Given the description of an element on the screen output the (x, y) to click on. 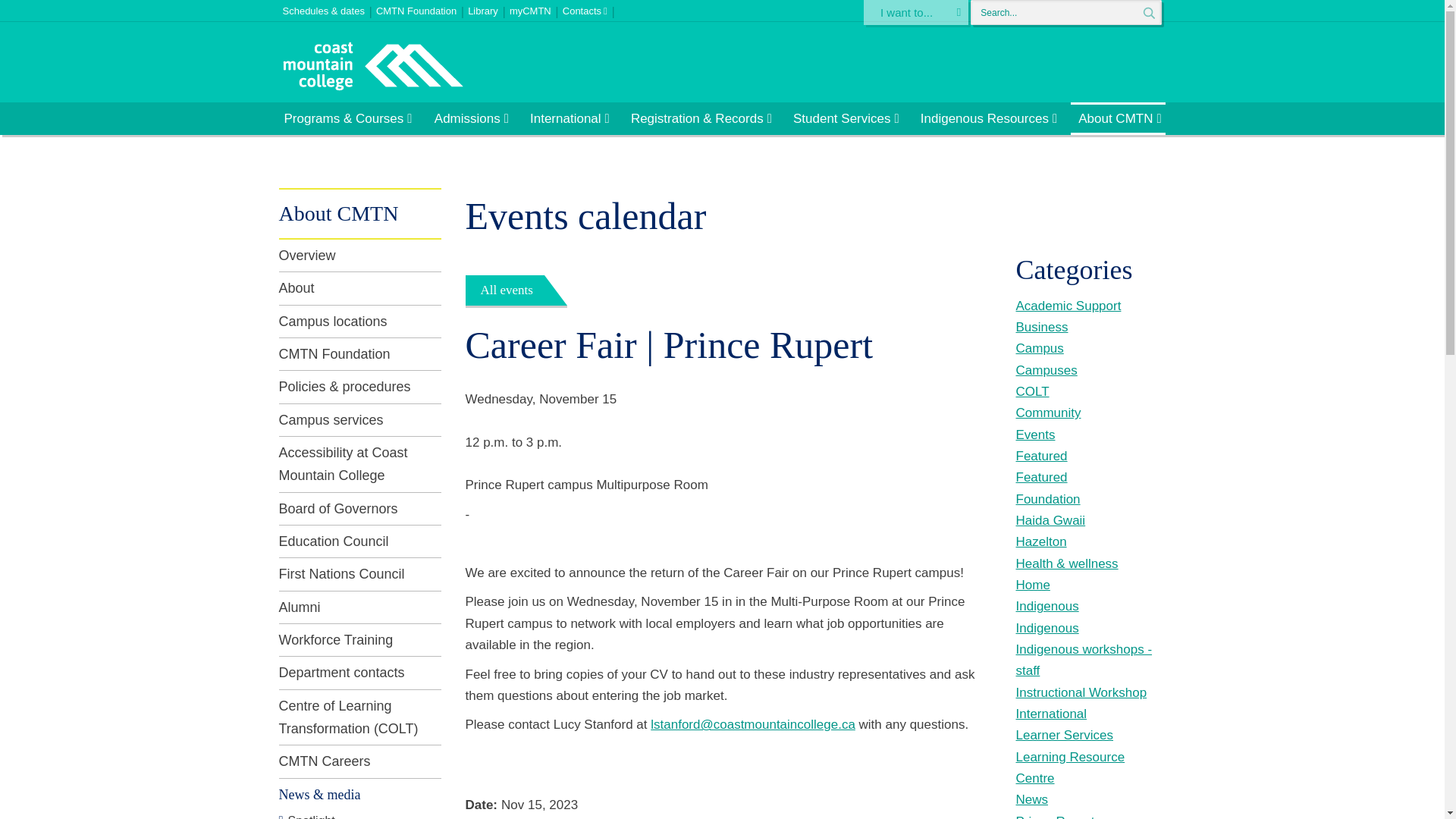
CMTN Foundation (421, 7)
myCMTN (535, 7)
Contacts (590, 7)
Search (1148, 12)
Search (1148, 12)
Library (488, 7)
I want to... (915, 12)
